Given the description of an element on the screen output the (x, y) to click on. 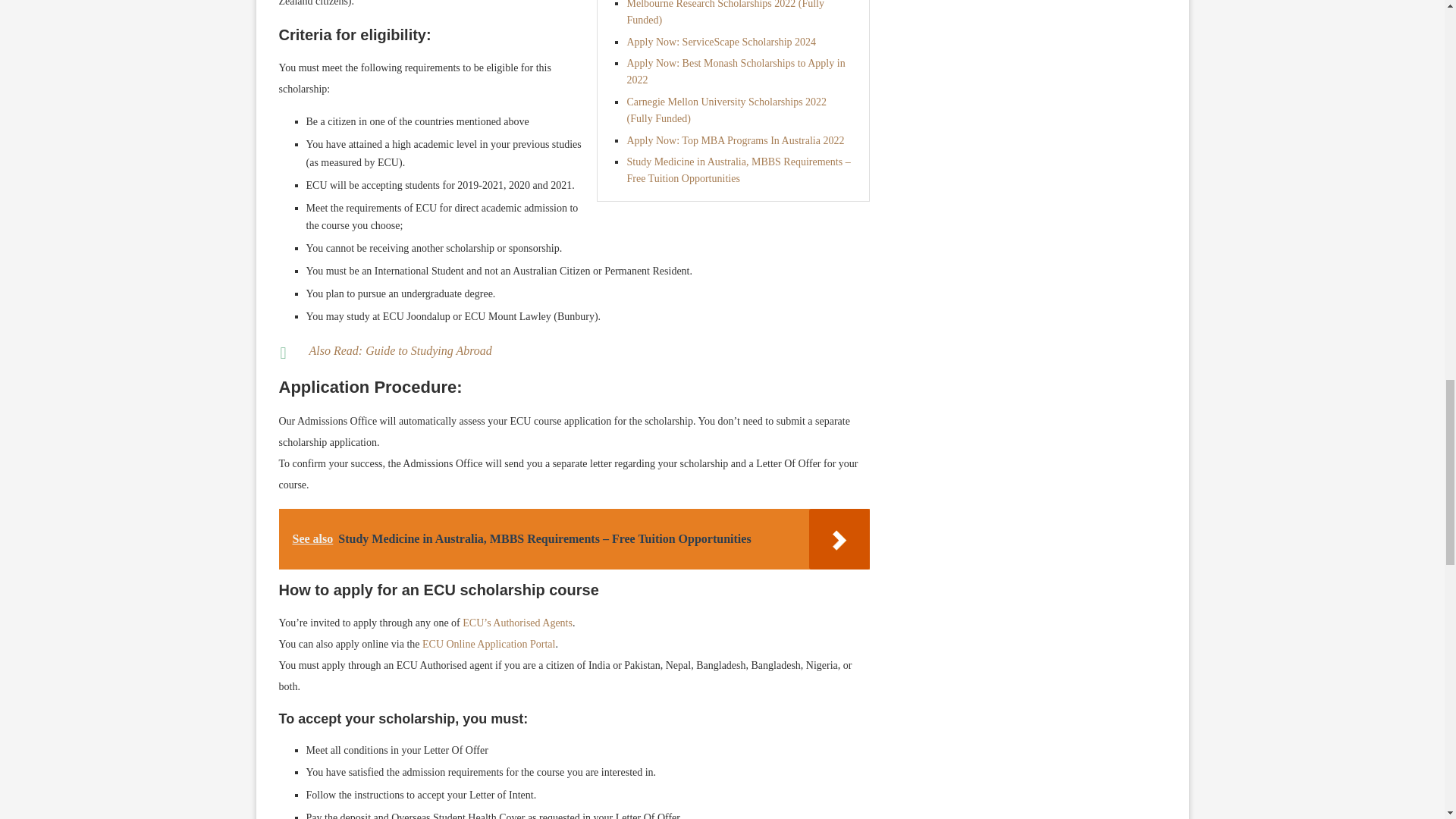
Apply Now: ServiceScape Scholarship 2024 (720, 41)
ECU Online Application Portal (488, 644)
Apply Now: Best Monash Scholarships to Apply in 2022 (735, 71)
Apply Now: Top MBA Programs In Australia 2022 (735, 140)
Also Read: Guide to Studying Abroad (400, 350)
